Given the description of an element on the screen output the (x, y) to click on. 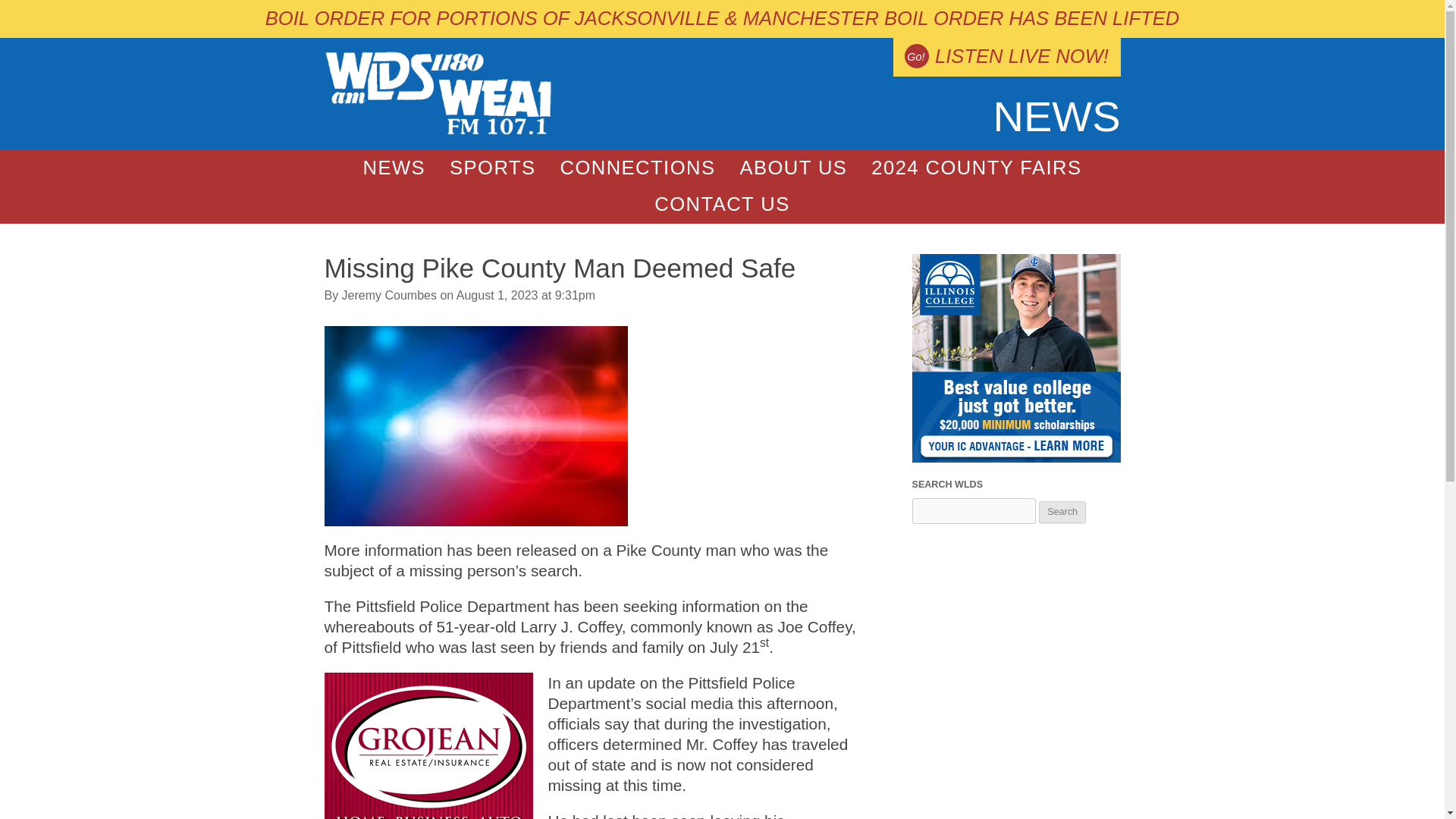
NEWS (394, 167)
Search (1062, 512)
SPORTS (492, 167)
CONNECTIONS (636, 167)
WLDS (437, 131)
LISTEN LIVE NOW! (1006, 56)
ABOUT US (792, 167)
2024 COUNTY FAIRS (976, 167)
CONTACT US (722, 204)
Search (1062, 512)
